Given the description of an element on the screen output the (x, y) to click on. 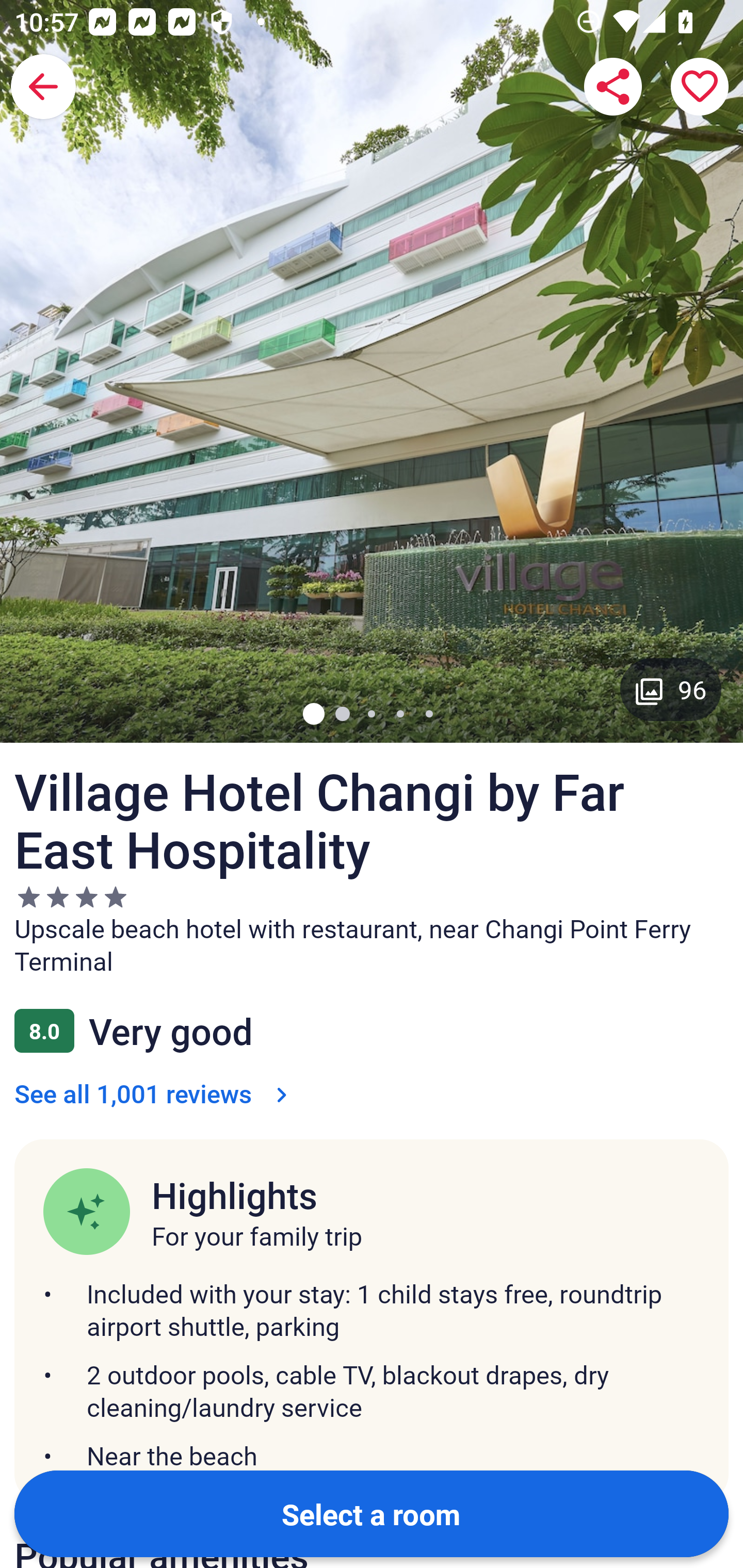
Back (43, 86)
Save property to a trip (699, 86)
Share Village Hotel Changi by Far East Hospitality (612, 87)
Gallery button with 96 images (670, 689)
See all 1,001 reviews See all 1,001 reviews Link (154, 1093)
Select a room Button Select a room (371, 1513)
